Given the description of an element on the screen output the (x, y) to click on. 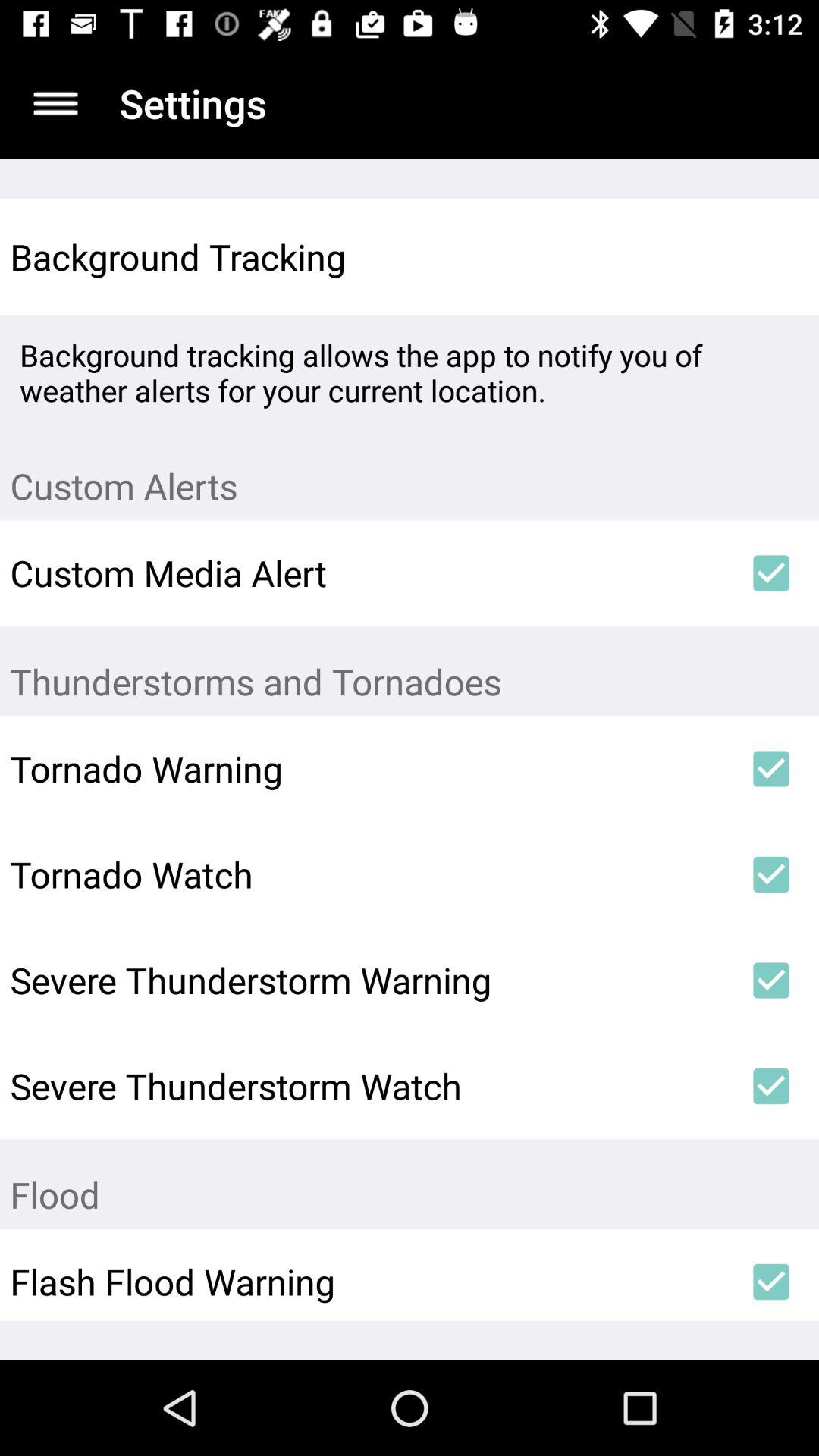
launch icon to the right of tornado watch (771, 874)
